Given the description of an element on the screen output the (x, y) to click on. 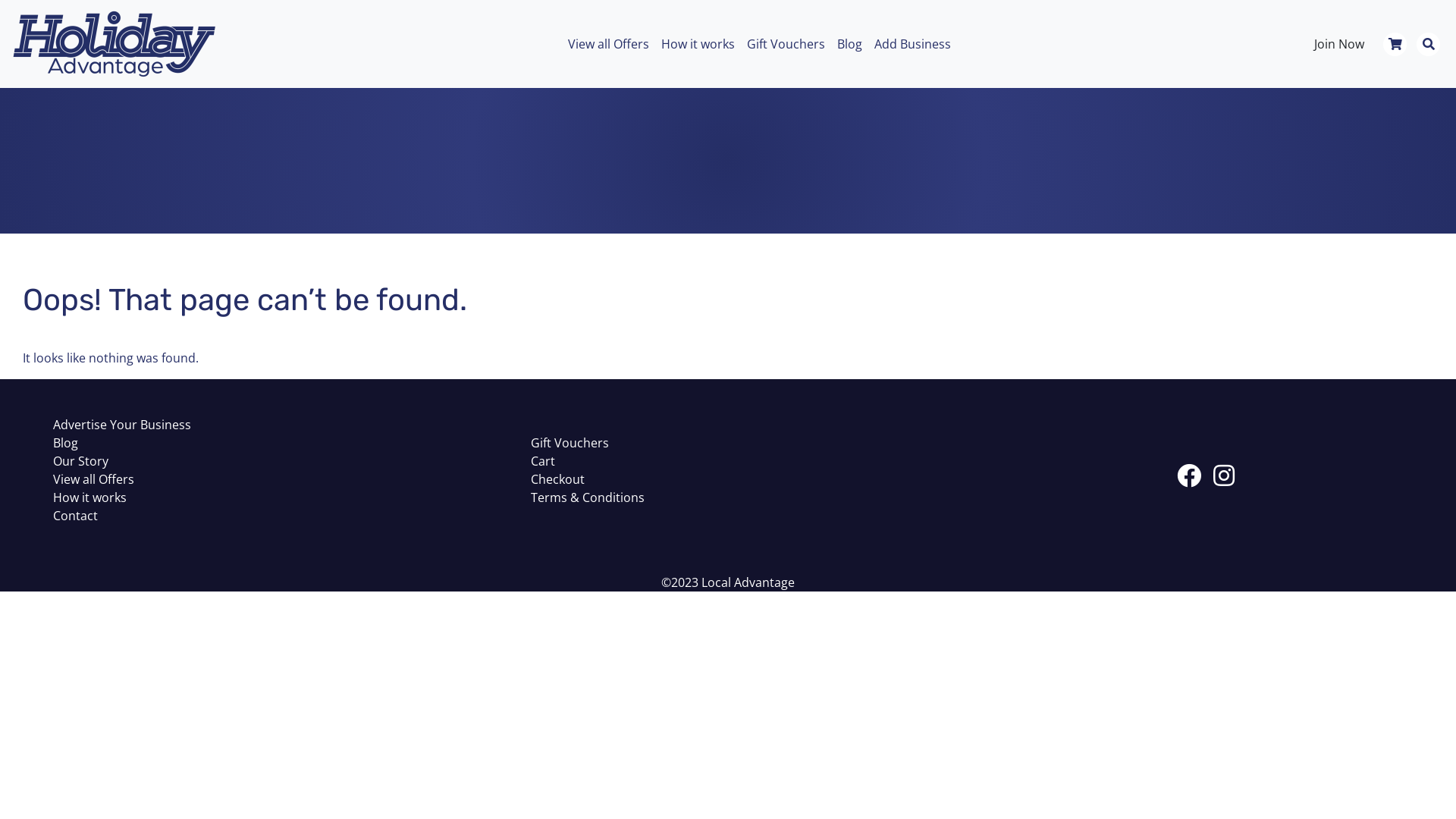
Blog Element type: text (65, 442)
How it works Element type: text (697, 43)
Terms & Conditions Element type: text (587, 497)
Advertise Your Business Element type: text (122, 424)
Contact Element type: text (75, 515)
View all Offers Element type: text (93, 478)
Checkout Element type: text (557, 478)
Gift Vouchers Element type: text (785, 43)
How it works Element type: text (89, 497)
Blog Element type: text (849, 43)
Our Story Element type: text (80, 460)
Join Now Element type: text (1339, 43)
Cart Element type: text (542, 460)
Gift Vouchers Element type: text (569, 442)
View all Offers Element type: text (607, 43)
Add Business Element type: text (911, 43)
